Given the description of an element on the screen output the (x, y) to click on. 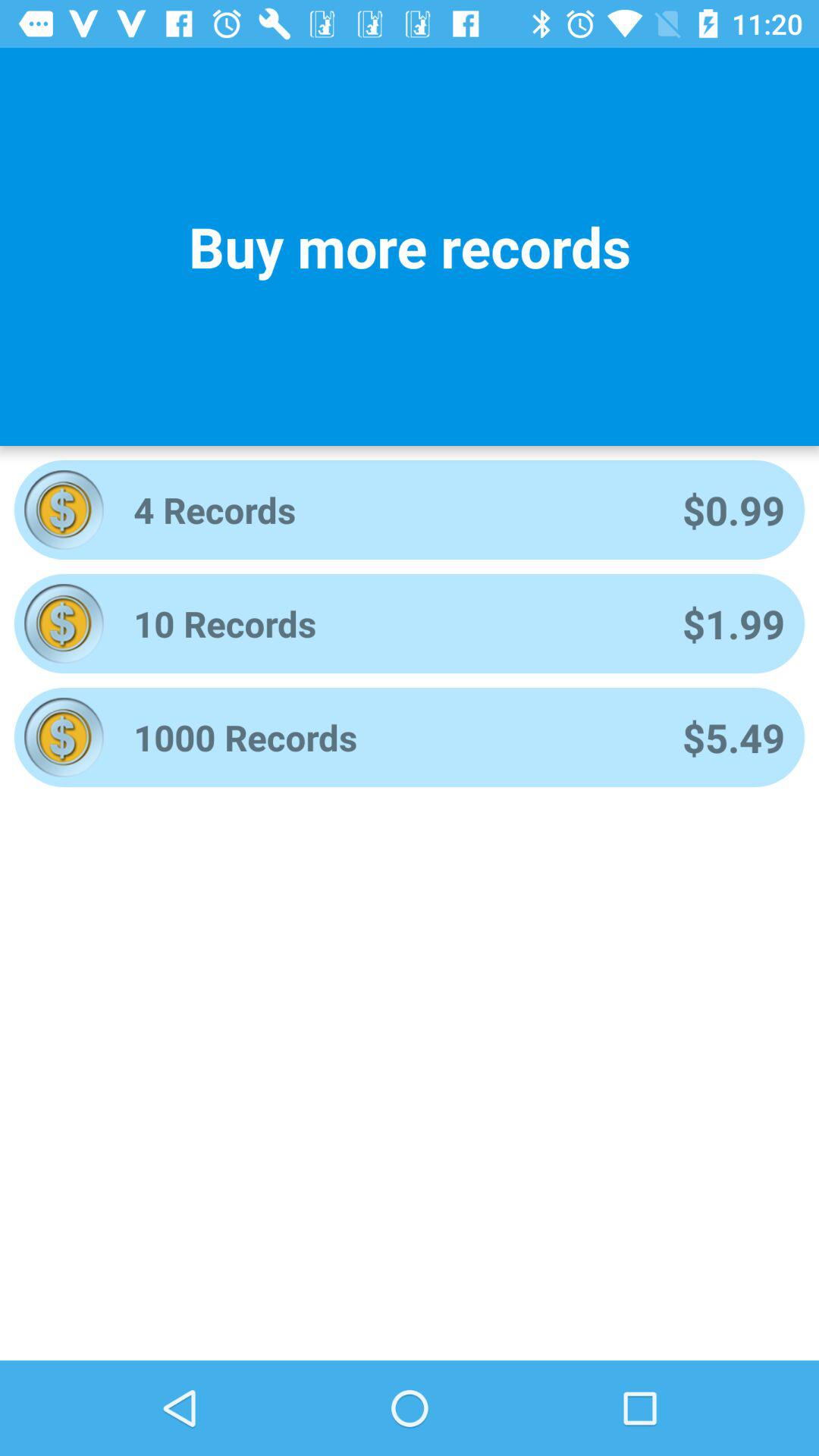
open the $5.49 icon (733, 737)
